Given the description of an element on the screen output the (x, y) to click on. 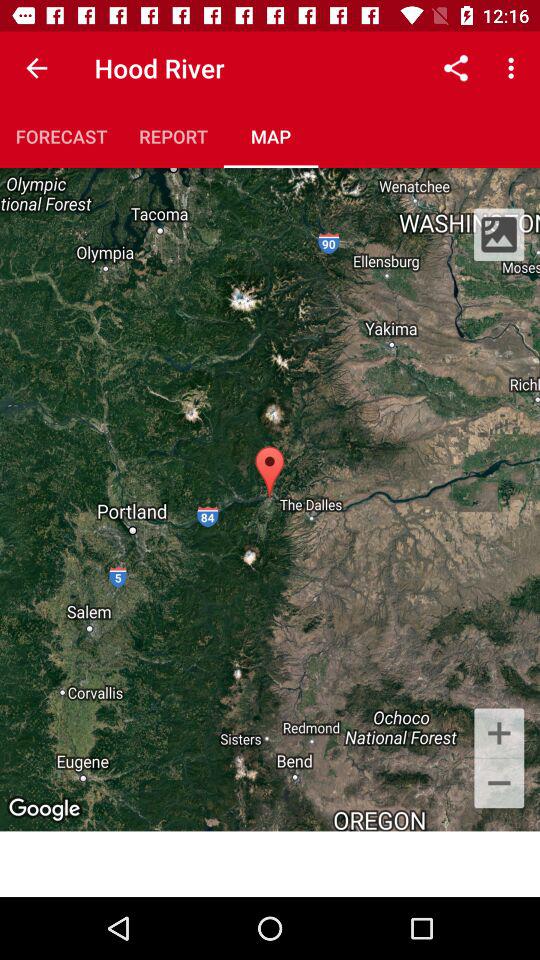
select map (271, 136)
click on zoom out button (499, 785)
